Given the description of an element on the screen output the (x, y) to click on. 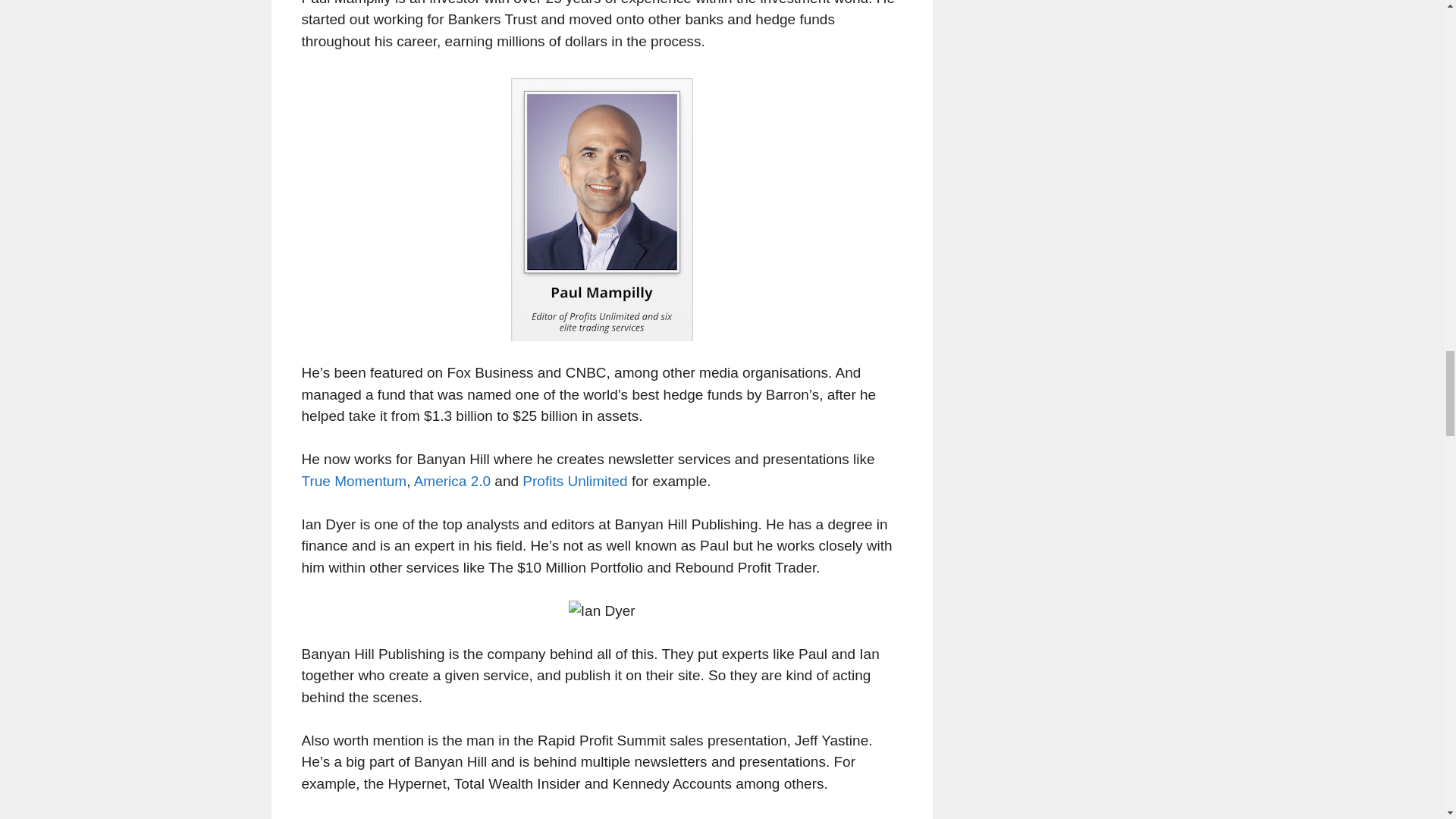
True Momentum (354, 480)
Profits Unlimited (574, 480)
America 2.0 (451, 480)
